Given the description of an element on the screen output the (x, y) to click on. 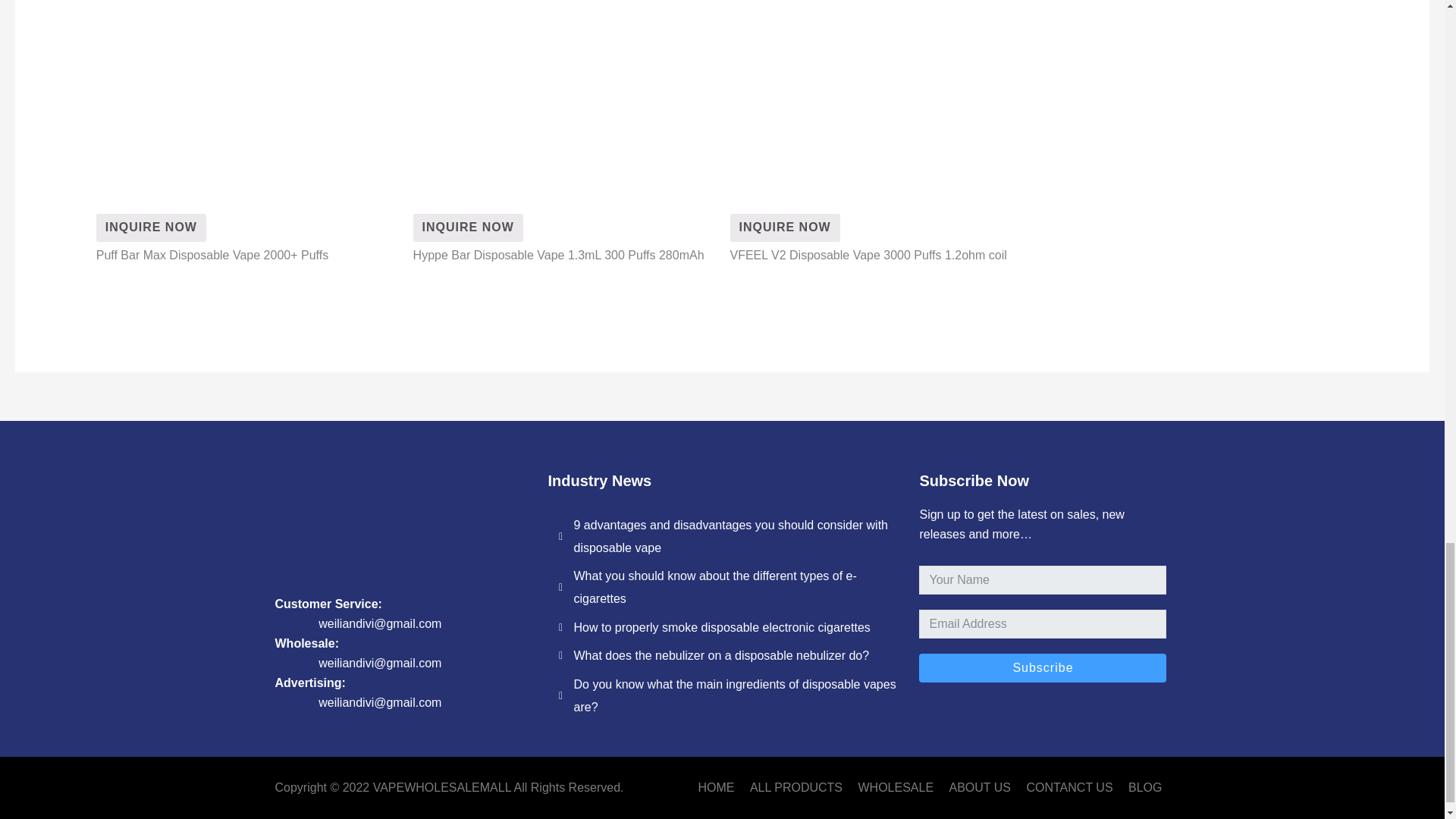
VFEEL V2 Disposable Vape 3000 Puffs 1.2ohm coil (784, 227)
Hyppe Bar Disposable Vape 1.3mL 300 Puffs 280mAh (467, 227)
